Given the description of an element on the screen output the (x, y) to click on. 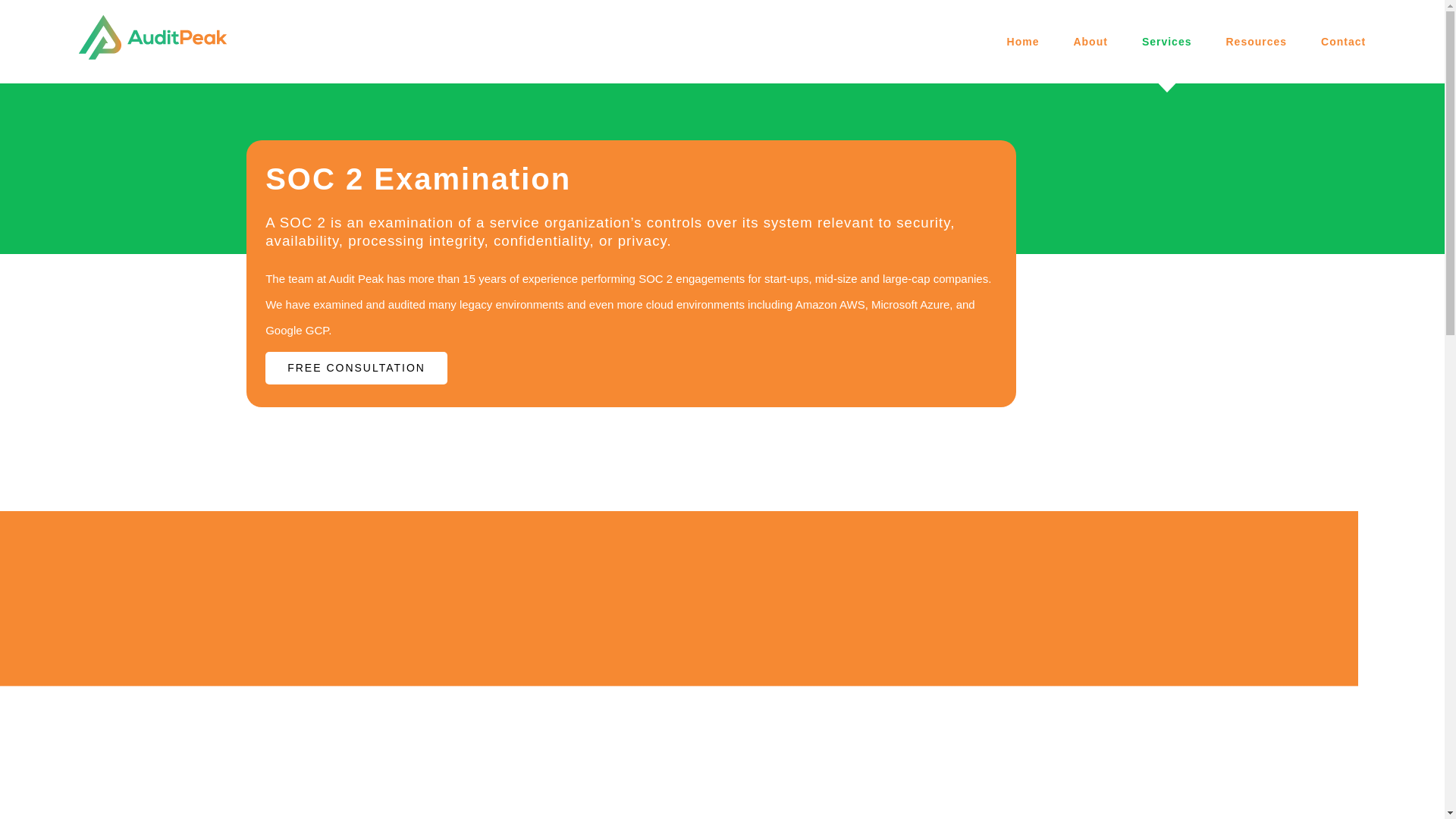
FREE CONSULTATION (355, 368)
